Given the description of an element on the screen output the (x, y) to click on. 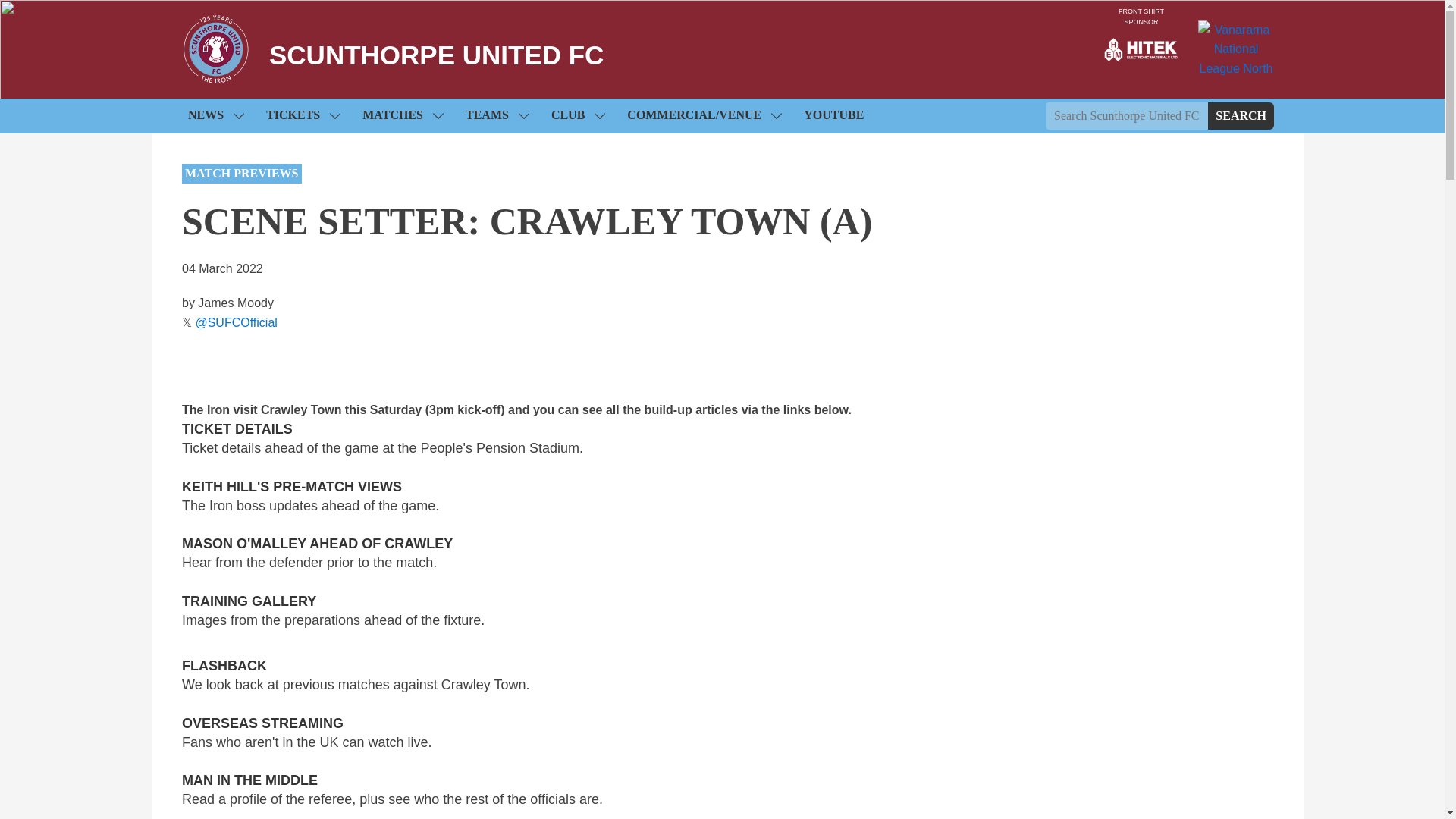
CLUB (577, 115)
FRONT SHIRT SPONSOR (1141, 48)
Link to Tickets (302, 115)
MATCHES (402, 115)
Link to News (215, 115)
NEWS (215, 115)
TEAMS (497, 115)
Scunthorpe United FC badge - Link to home (216, 49)
TICKETS (302, 115)
